Given the description of an element on the screen output the (x, y) to click on. 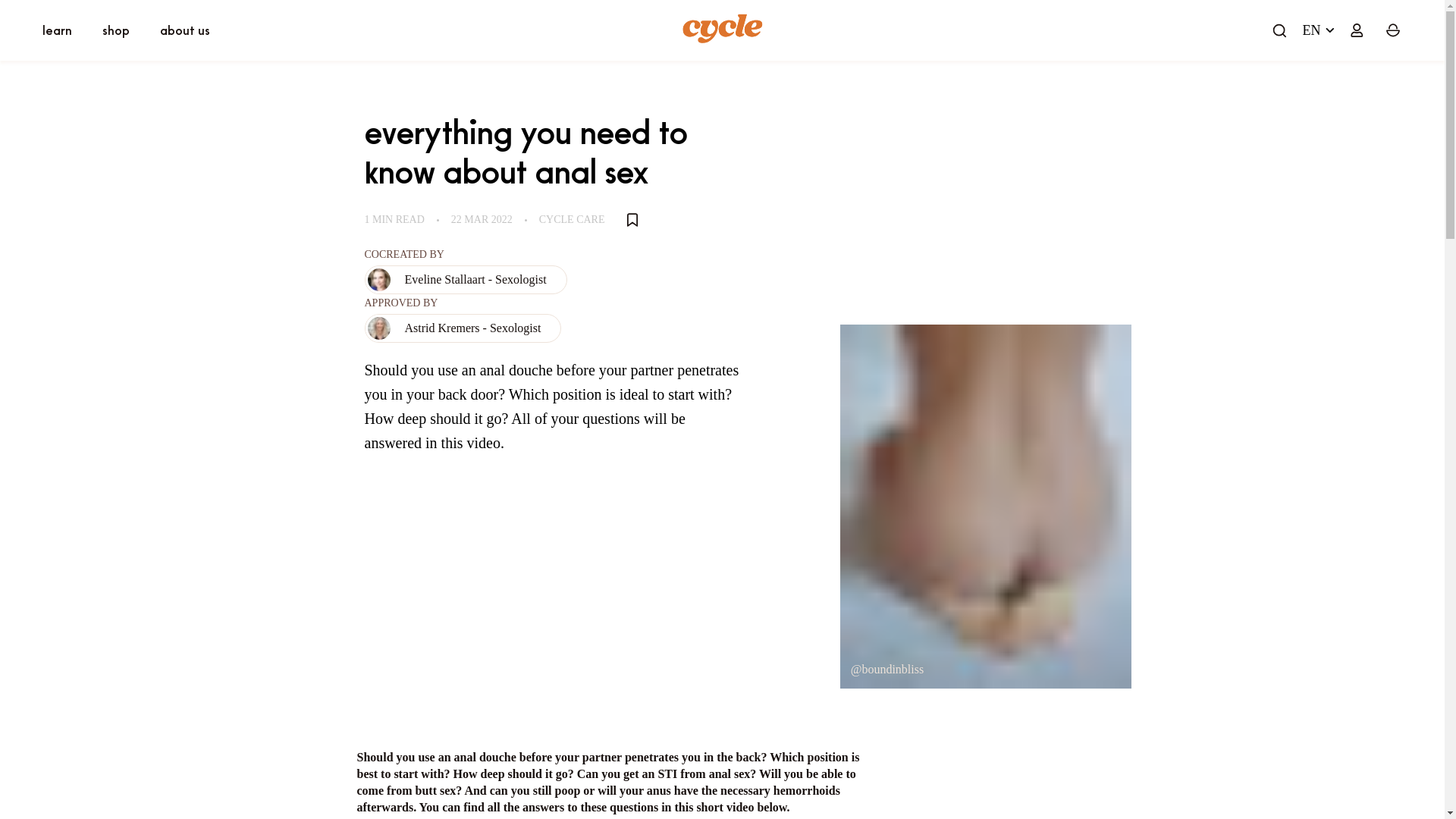
learn (56, 29)
shop (115, 29)
shop (115, 29)
about us (184, 29)
learn (56, 29)
